Given the description of an element on the screen output the (x, y) to click on. 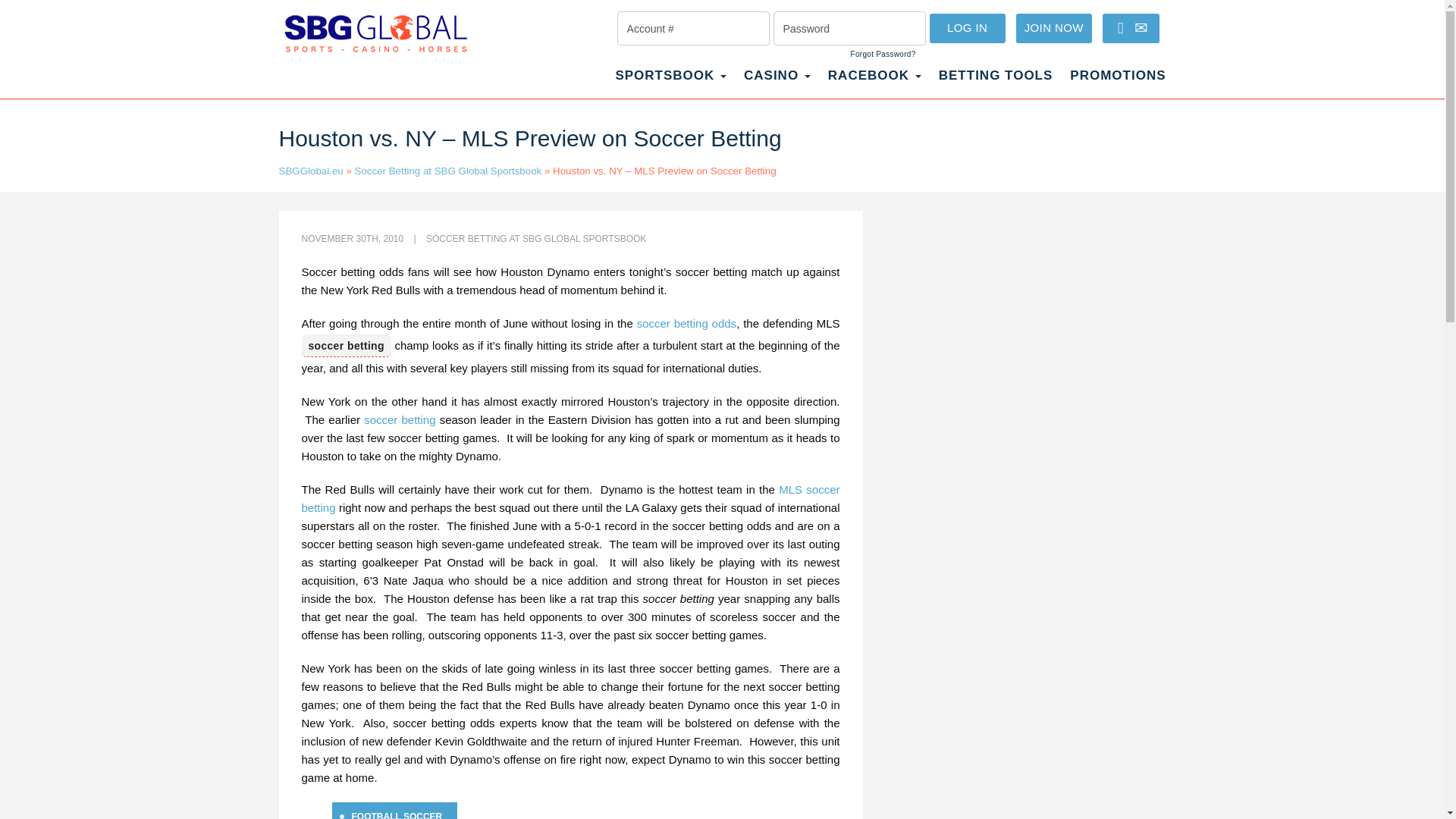
SPORTSBOOK (670, 83)
LOG IN (968, 28)
Sportsbook (670, 83)
Forgot Password? (882, 53)
JOIN NOW (1054, 28)
